Given the description of an element on the screen output the (x, y) to click on. 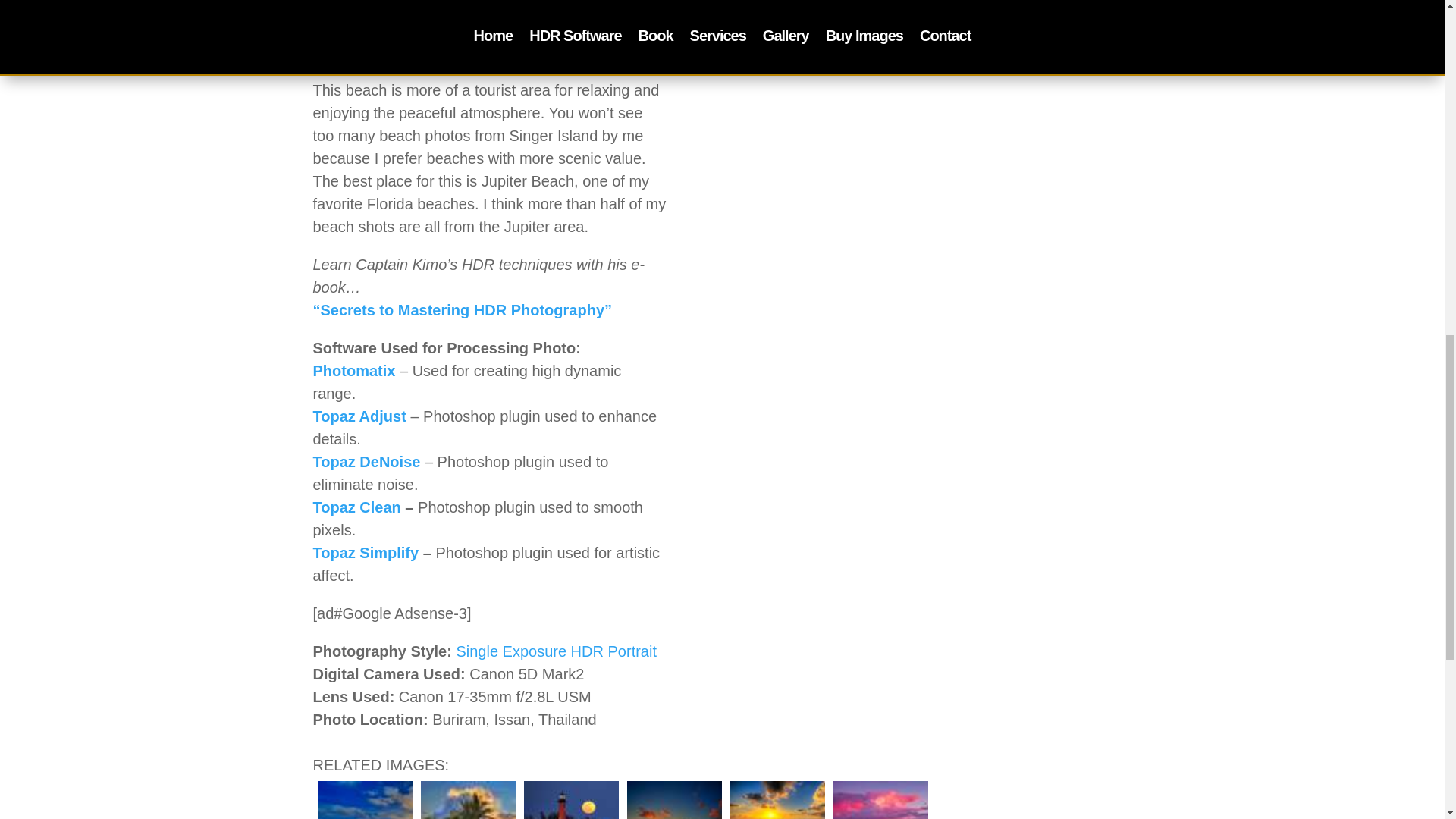
Photomatix (353, 370)
Topaz Clean (356, 506)
Pink Velvet Sunrise Over Carlin Park Beach Jupiter Florida (879, 797)
Topaz Simplify (366, 552)
Florida Beach Sunrise Riviera Beach Singer Island (776, 797)
Single Exposure HDR Portrait (555, 651)
Topaz Adjust (359, 416)
Topaz DeNoise (366, 461)
Jupiter Beach Inlet at Ocean Under the Moon Light (364, 797)
Full Moon Rise at Jupiter Lighthouse (570, 797)
